Given the description of an element on the screen output the (x, y) to click on. 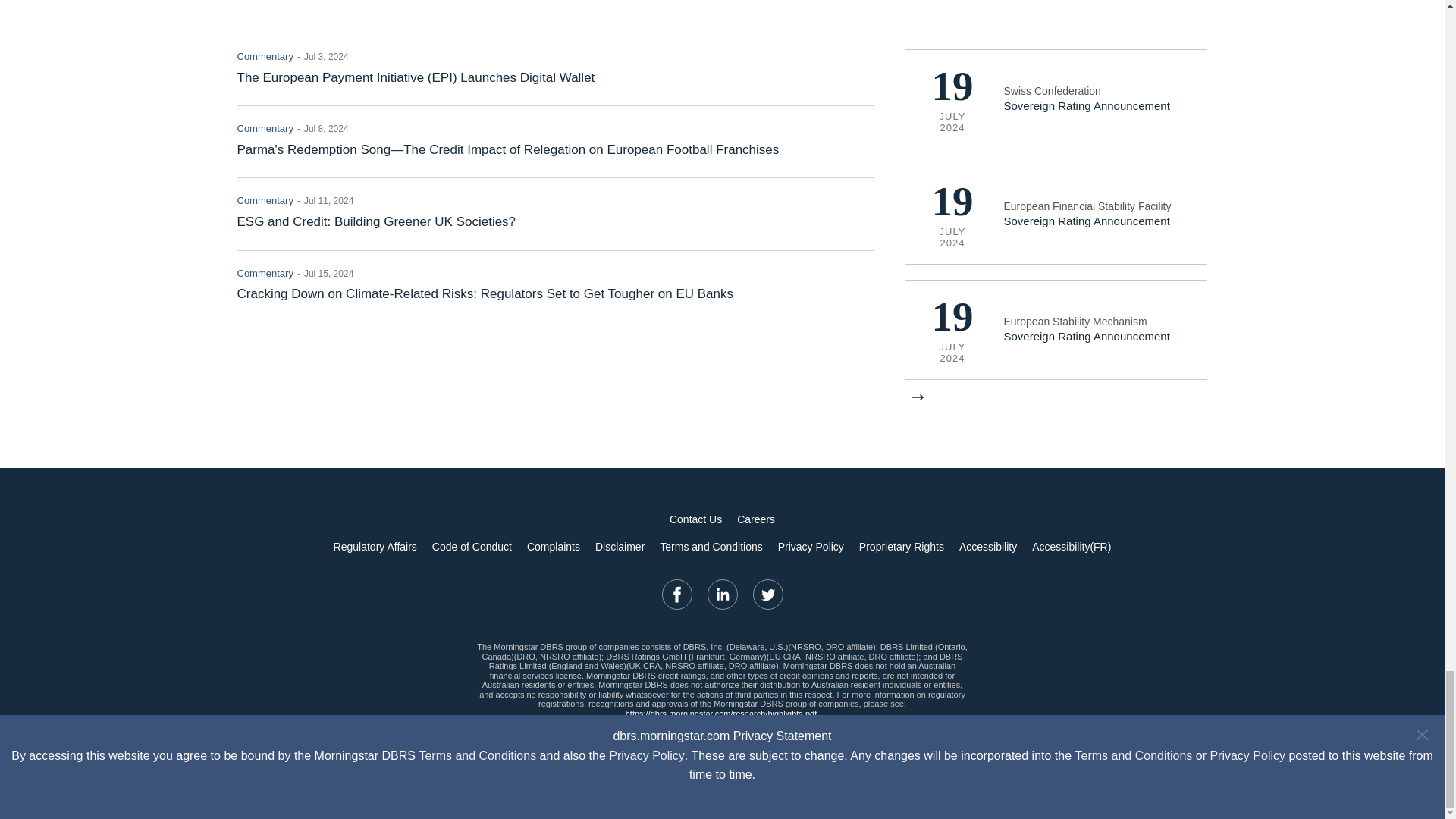
Related Events (1055, 207)
